Given the description of an element on the screen output the (x, y) to click on. 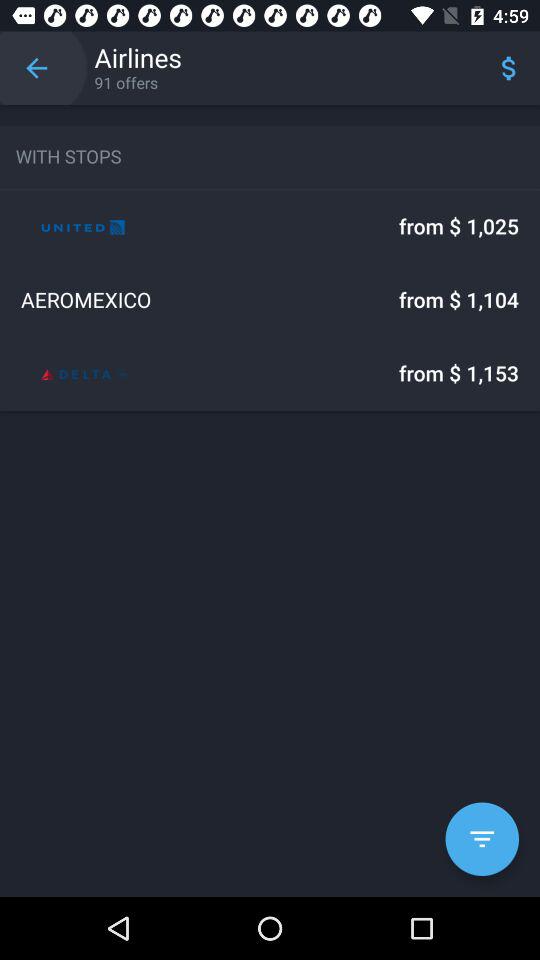
launch icon to the left of the airlines (36, 68)
